Given the description of an element on the screen output the (x, y) to click on. 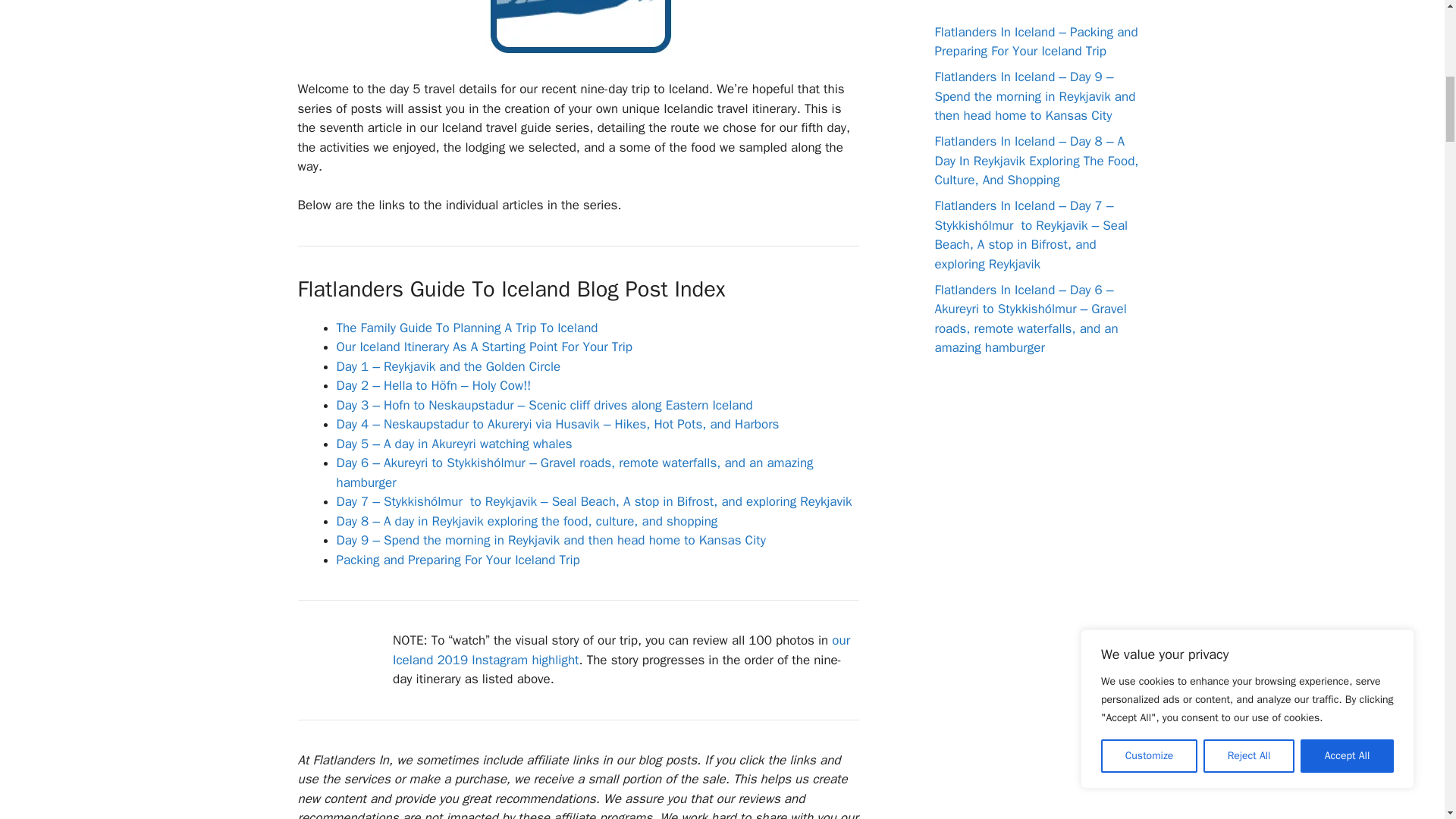
Scroll back to top (1406, 720)
Our Iceland Itinerary As A Starting Point For Your Trip (483, 346)
The Family Guide To Planning A Trip To Iceland (467, 327)
